Given the description of an element on the screen output the (x, y) to click on. 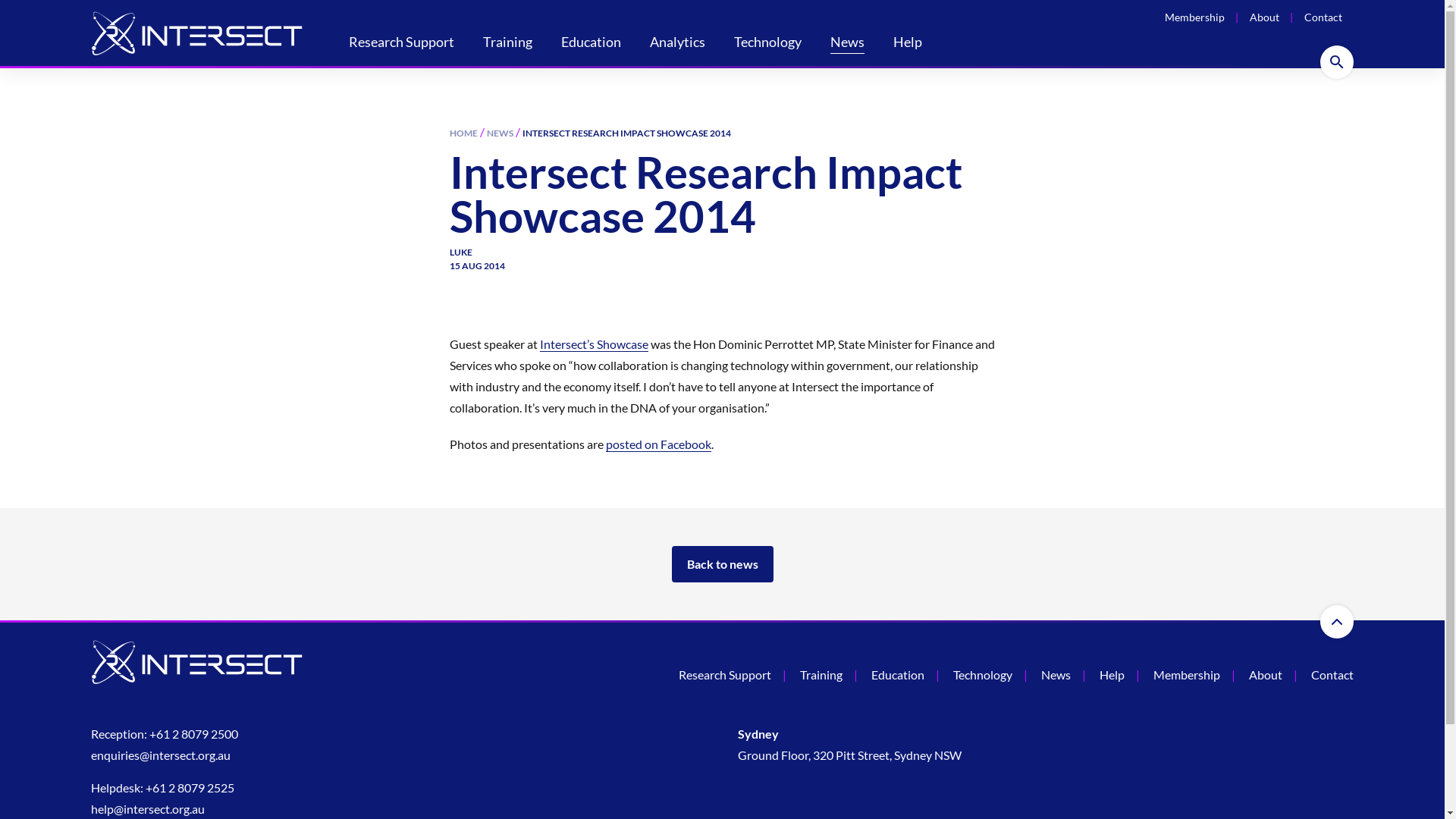
Membership Element type: text (1186, 674)
Research Support Element type: text (401, 43)
About Element type: text (1265, 674)
News Element type: text (1055, 674)
About Element type: text (1264, 16)
Contact Element type: text (1332, 674)
NEWS Element type: text (499, 132)
Education Element type: text (591, 43)
help@intersect.org.au Element type: text (147, 808)
posted on Facebook Element type: text (657, 443)
Contact Element type: text (1323, 16)
Training Element type: text (507, 43)
HOME Element type: text (462, 132)
Help Element type: text (907, 43)
Technology Element type: text (982, 674)
News Element type: text (847, 43)
Technology Element type: text (767, 43)
+61 2 8079 2500 Element type: text (193, 733)
Analytics Element type: text (677, 43)
Education Element type: text (897, 674)
Training Element type: text (821, 674)
enquiries@intersect.org.au Element type: text (160, 754)
Membership Element type: text (1194, 16)
Back to news Element type: text (722, 564)
+61 2 8079 2525 Element type: text (189, 787)
Help Element type: text (1111, 674)
Research Support Element type: text (724, 674)
